Given the description of an element on the screen output the (x, y) to click on. 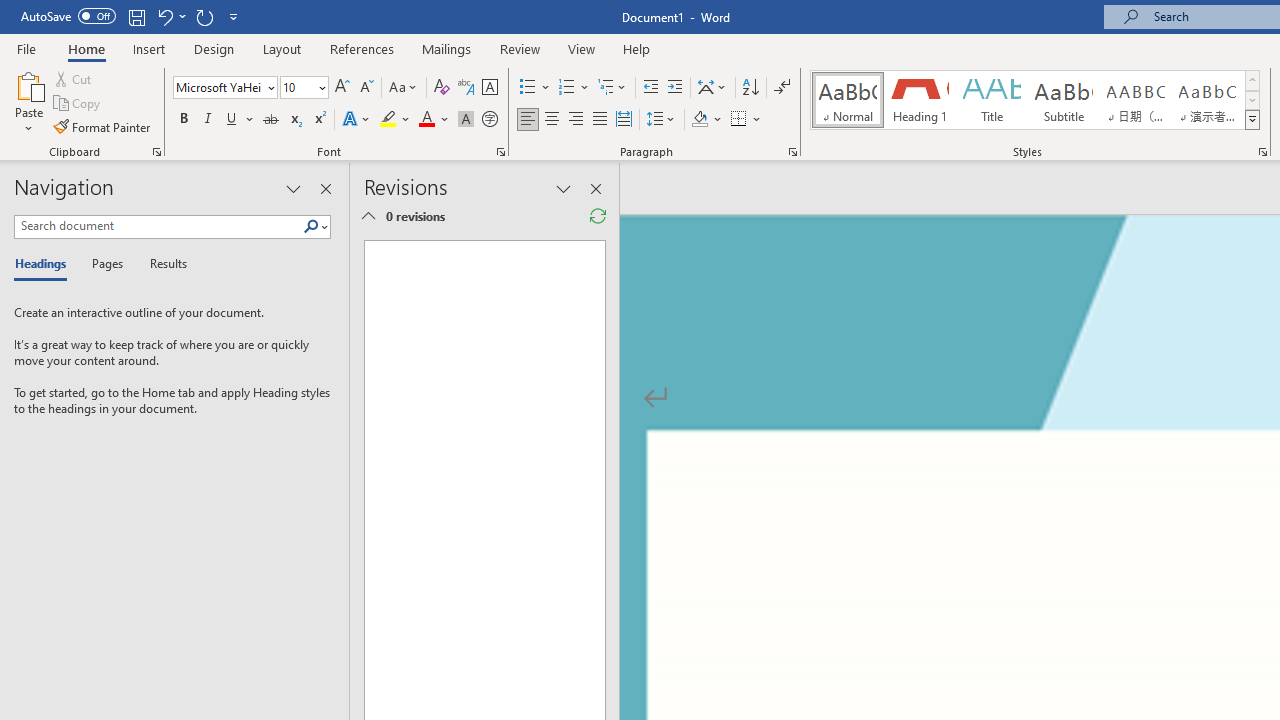
Show Detailed Summary (368, 215)
Undo Paragraph Alignment (170, 15)
Undo Paragraph Alignment (164, 15)
